Given the description of an element on the screen output the (x, y) to click on. 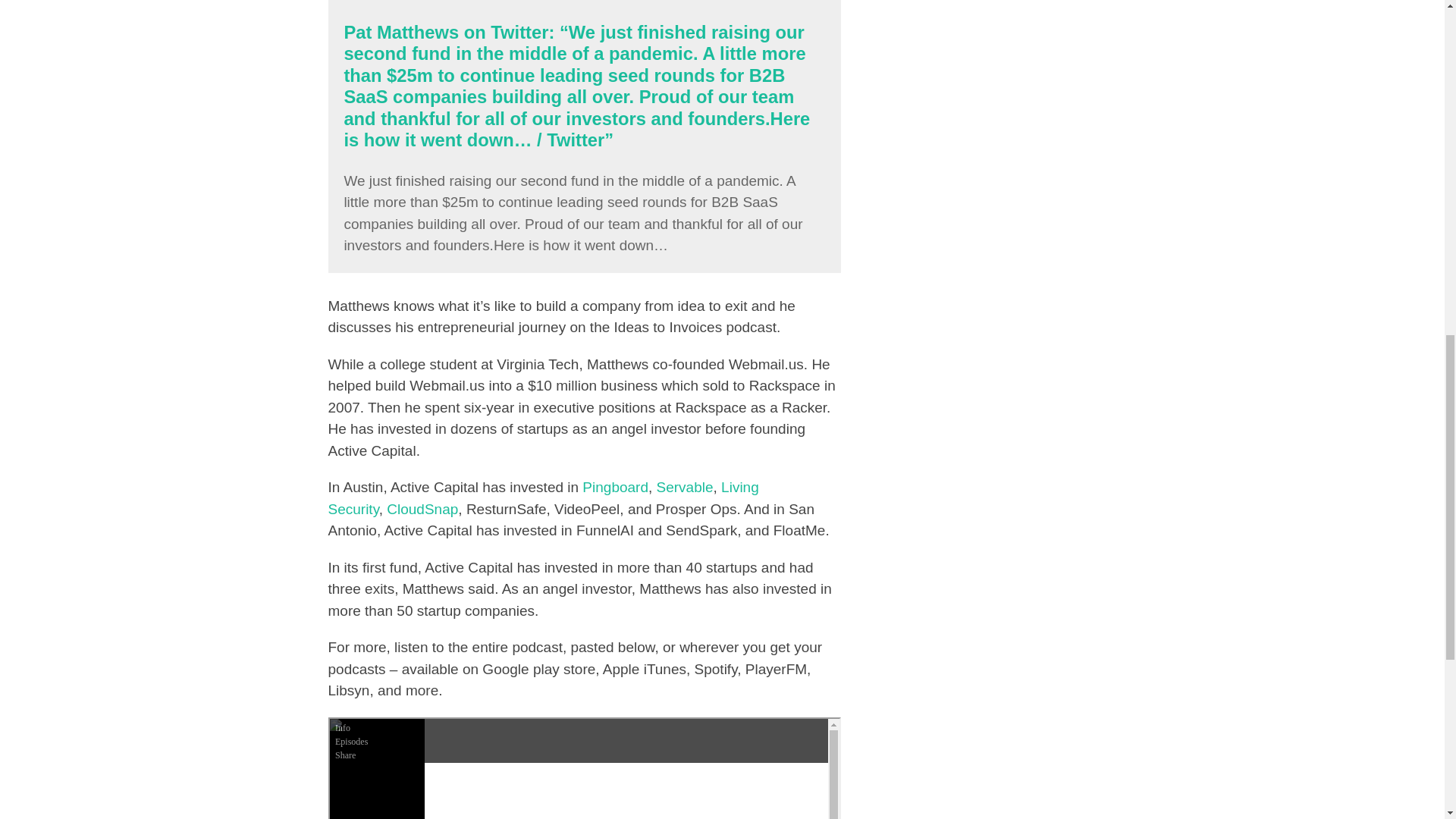
Living Security (542, 497)
Pingboard (614, 487)
Servable (684, 487)
CloudSnap (422, 508)
